Given the description of an element on the screen output the (x, y) to click on. 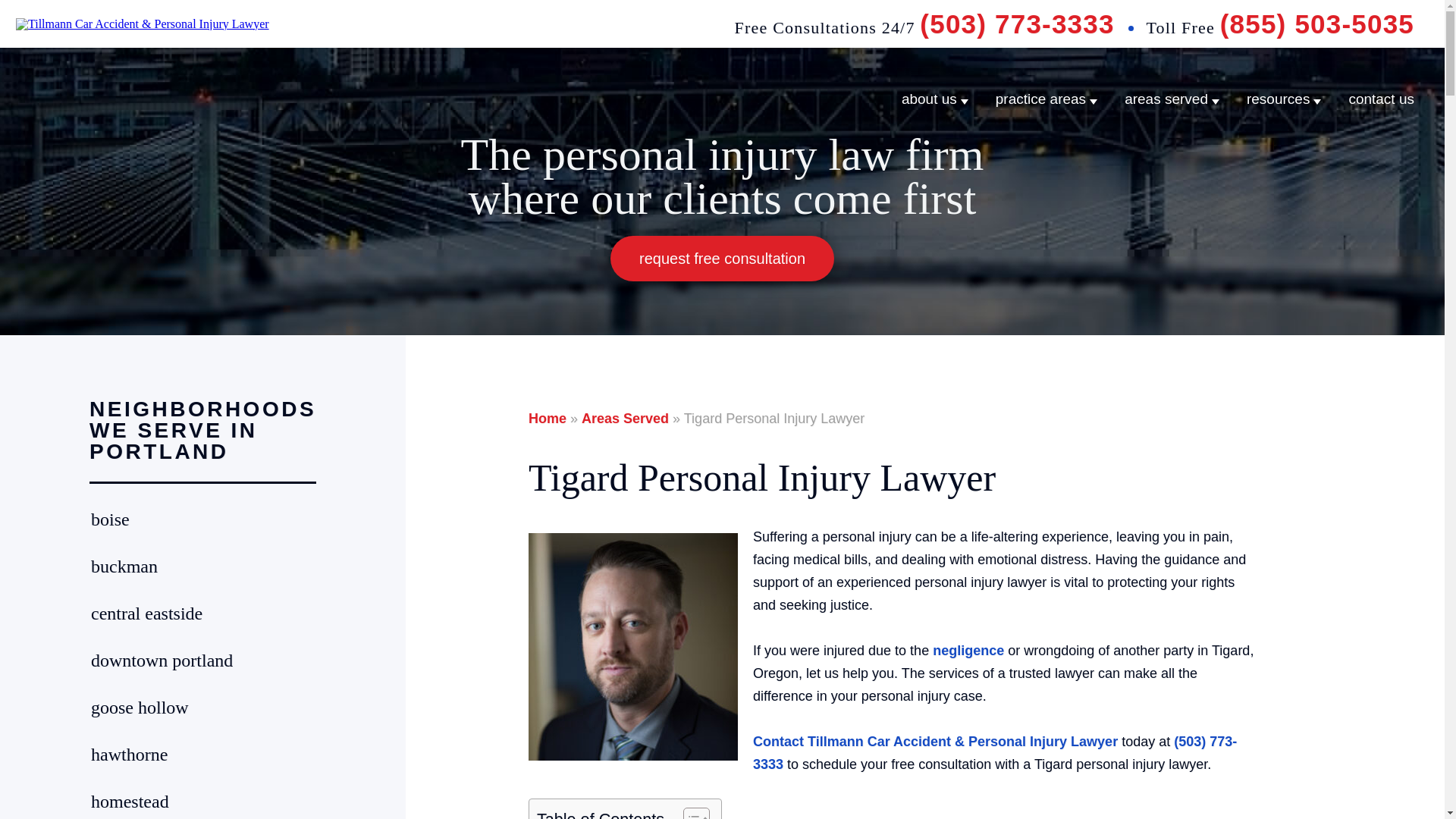
homestead (203, 801)
practice areas (1040, 98)
areas served (1166, 98)
request free consultation (722, 257)
downtown portland (203, 660)
contact us (1380, 98)
goose hollow (203, 707)
central eastside (203, 612)
resources (1277, 98)
buckman (203, 566)
about us (928, 98)
boise (203, 518)
hawthorne (203, 753)
